Given the description of an element on the screen output the (x, y) to click on. 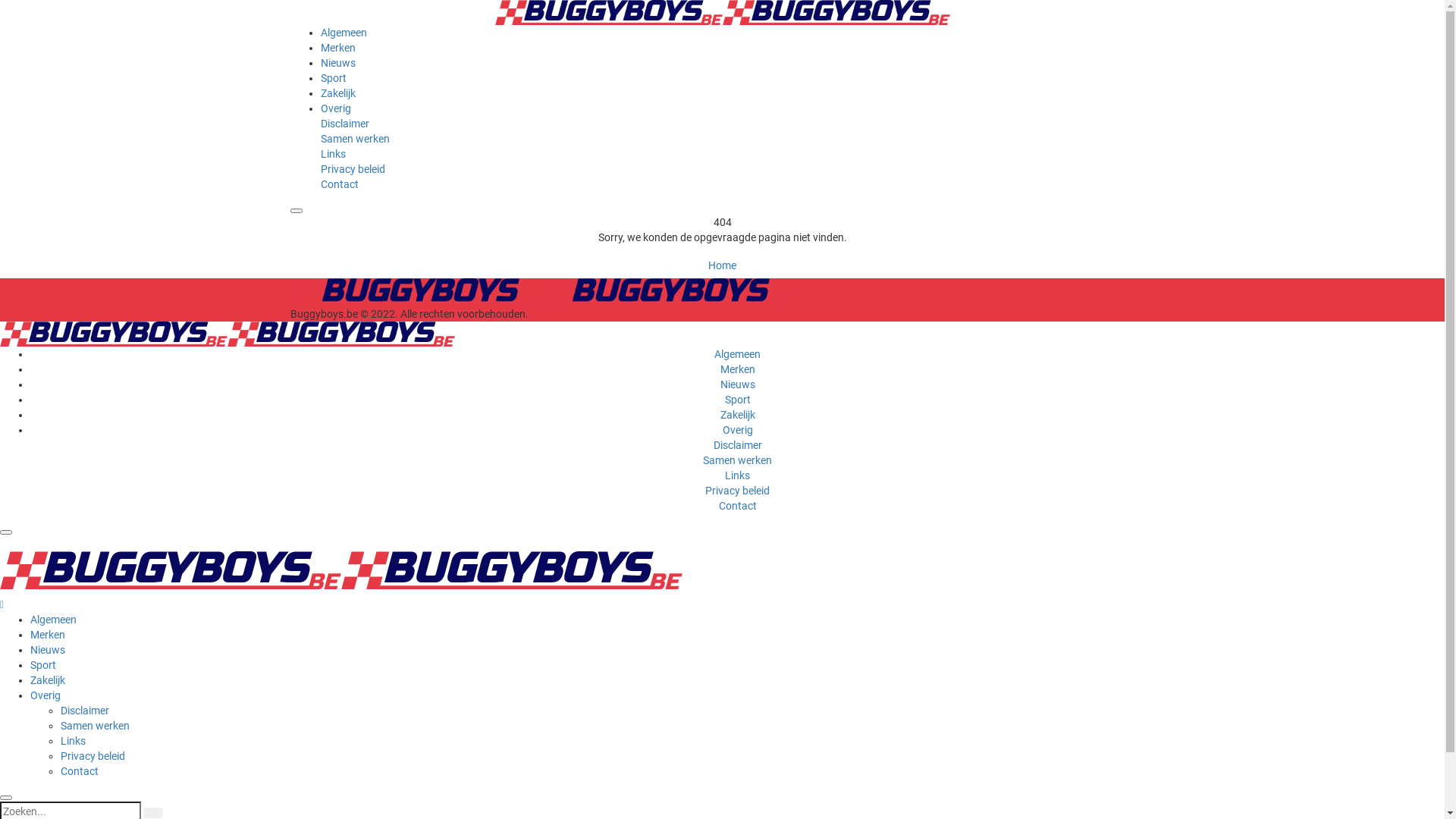
Contact Element type: text (338, 184)
Privacy beleid Element type: text (352, 169)
Sport Element type: text (43, 664)
Algemeen Element type: text (343, 32)
Home Element type: text (722, 265)
Disclaimer Element type: text (736, 445)
Nieuws Element type: text (337, 62)
Zakelijk Element type: text (337, 93)
Samen werken Element type: text (354, 138)
Disclaimer Element type: text (344, 123)
Overig Element type: text (45, 695)
Nieuws Element type: text (47, 649)
Algemeen Element type: text (737, 354)
Privacy beleid Element type: text (737, 490)
Contact Element type: text (79, 771)
Merken Element type: text (337, 47)
Sport Element type: text (332, 78)
Links Element type: text (736, 475)
Contact Element type: text (737, 505)
Overig Element type: text (736, 429)
Privacy beleid Element type: text (92, 755)
Samen werken Element type: text (94, 725)
Algemeen Element type: text (53, 619)
Links Element type: text (332, 153)
Overig Element type: text (335, 108)
Disclaimer Element type: text (84, 710)
Samen werken Element type: text (736, 460)
Zakelijk Element type: text (47, 680)
Nieuws Element type: text (737, 384)
Merken Element type: text (47, 634)
Links Element type: text (72, 740)
Sport Element type: text (737, 399)
Zakelijk Element type: text (737, 414)
Merken Element type: text (737, 369)
